Given the description of an element on the screen output the (x, y) to click on. 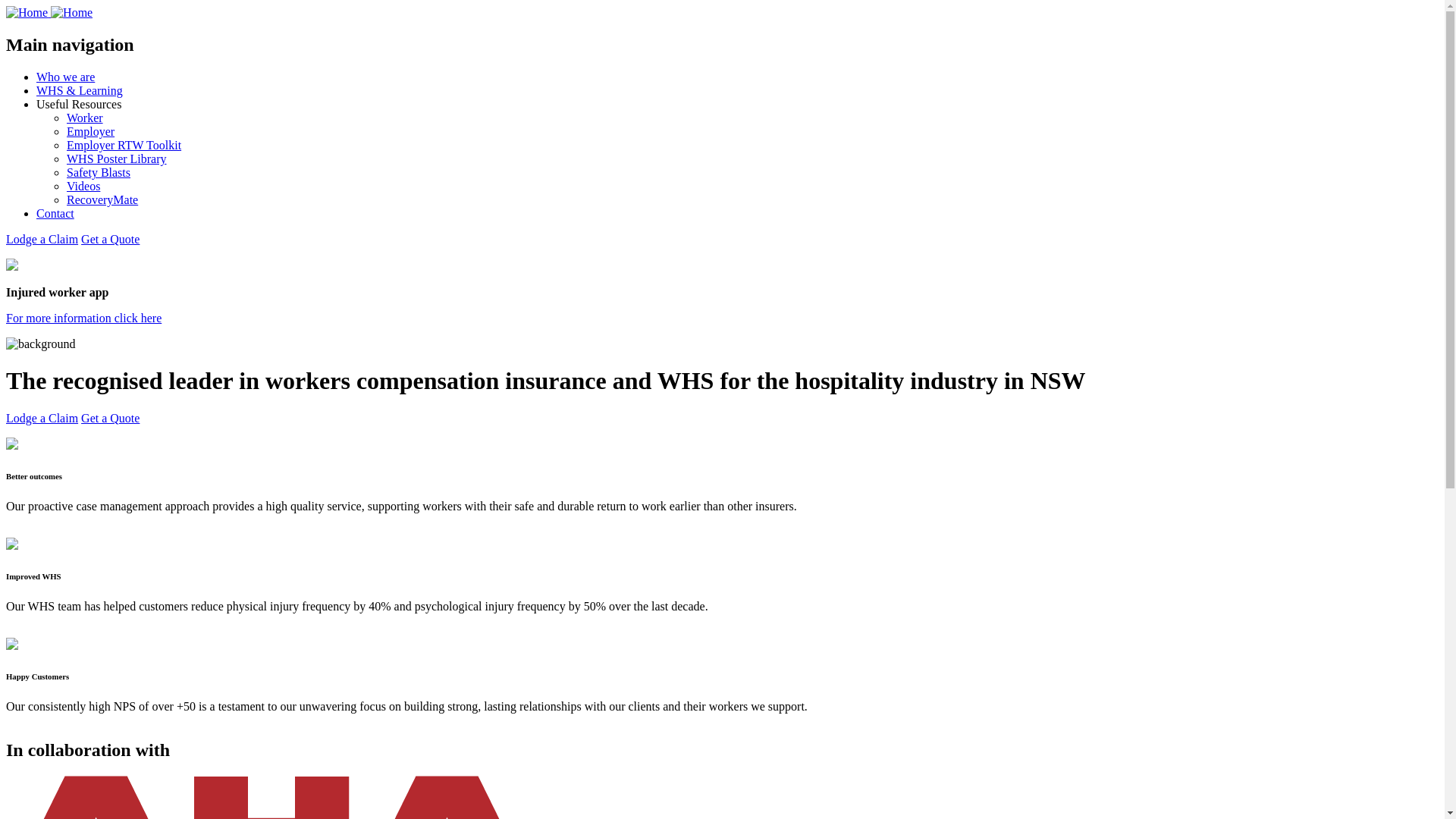
Go to hii.au Element type: text (727, 408)
Home Element type: hover (49, 12)
